Given the description of an element on the screen output the (x, y) to click on. 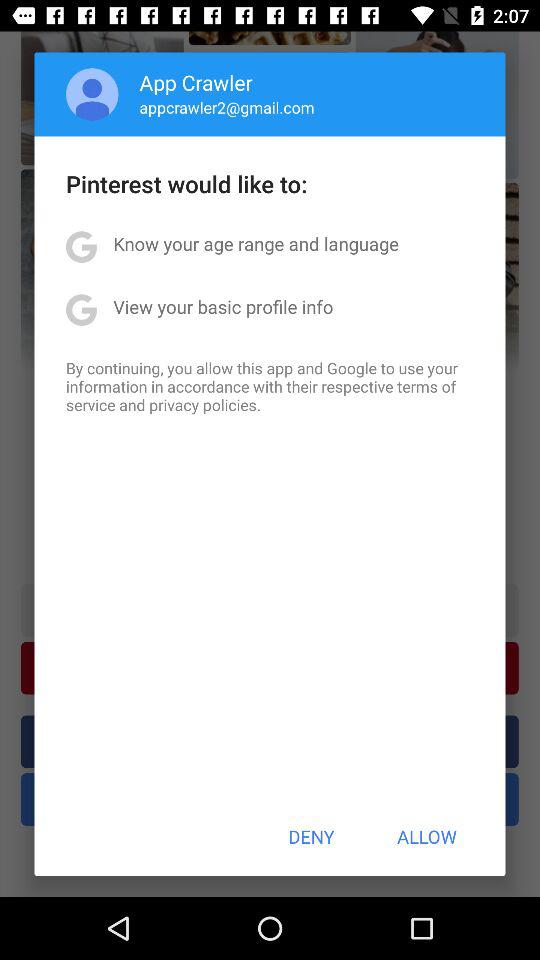
turn off item next to allow (311, 836)
